Given the description of an element on the screen output the (x, y) to click on. 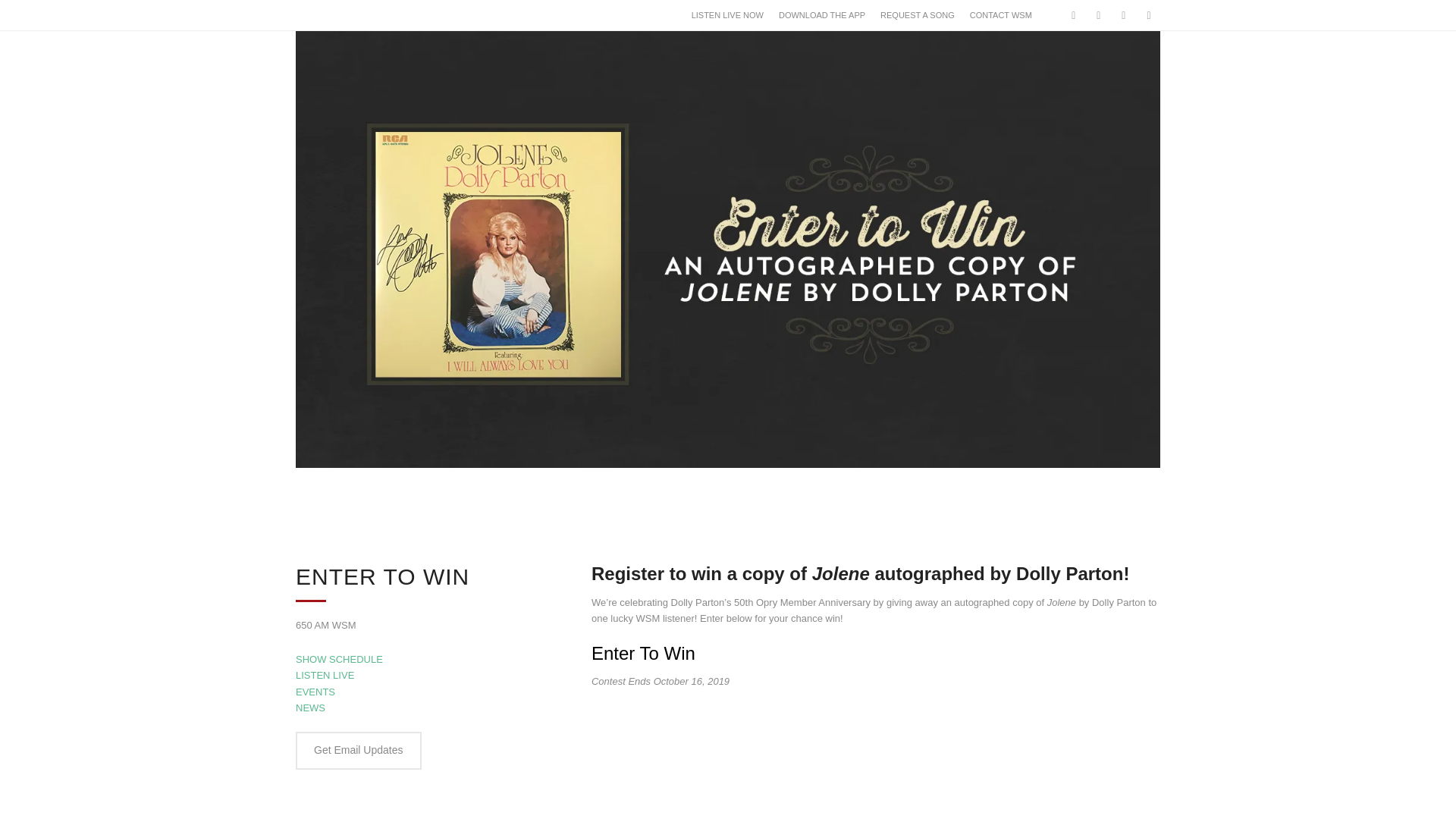
DOWNLOAD THE APP (821, 15)
LISTEN LIVE (324, 674)
CONTACT WSM (1000, 15)
EVENTS (314, 691)
LISTEN LIVE NOW (727, 15)
SHOW SCHEDULE (338, 659)
REQUEST A SONG (917, 15)
